Given the description of an element on the screen output the (x, y) to click on. 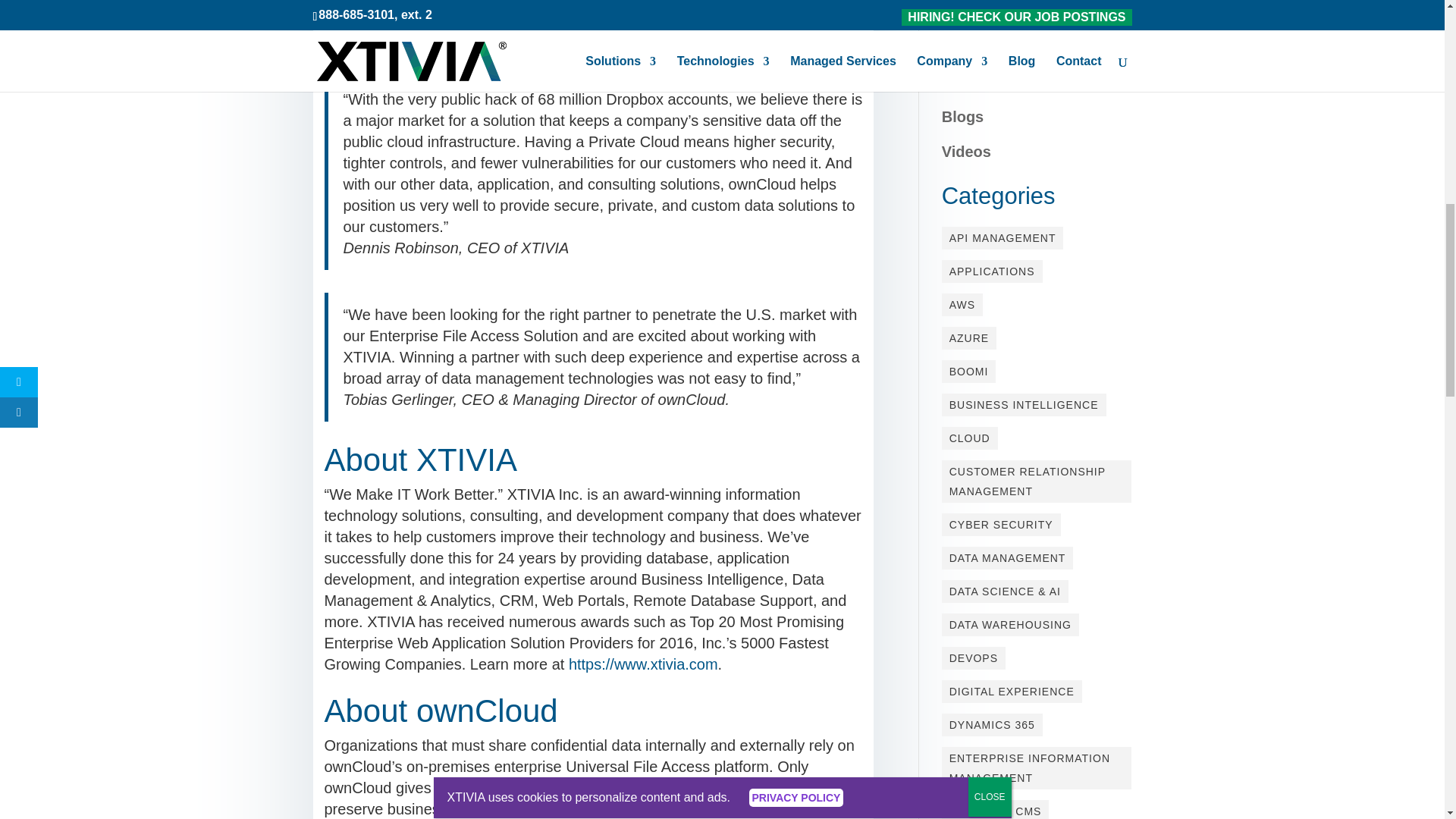
Play (961, 5)
Mute (1087, 5)
Fullscreen (1111, 5)
